Given the description of an element on the screen output the (x, y) to click on. 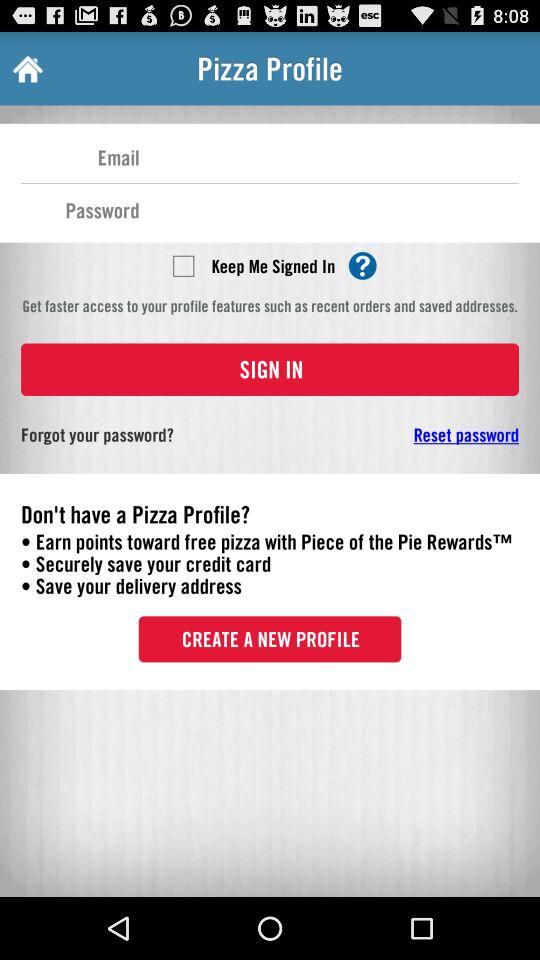
click sign in (270, 369)
